Given the description of an element on the screen output the (x, y) to click on. 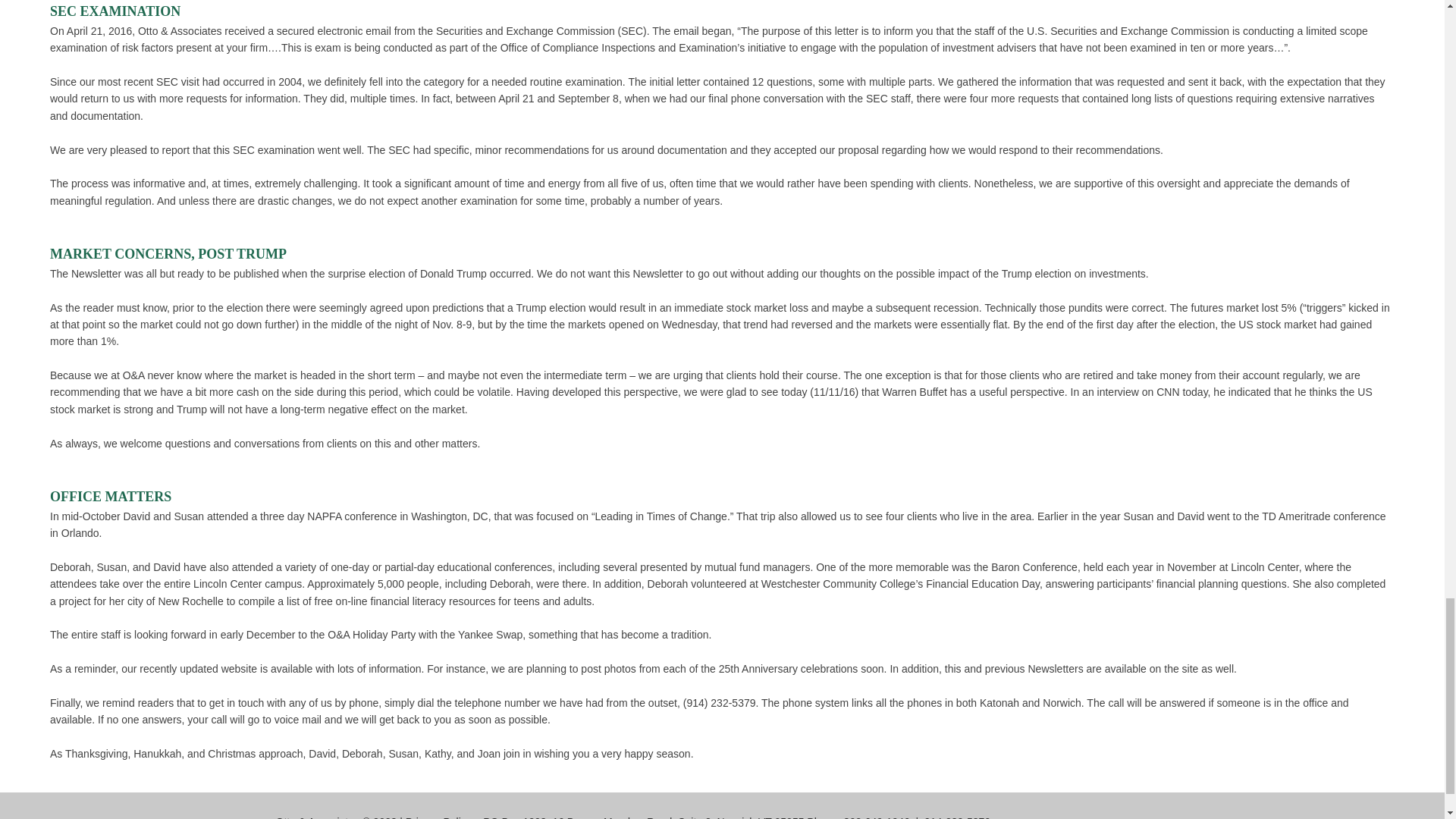
Privacy Policy (438, 817)
